Given the description of an element on the screen output the (x, y) to click on. 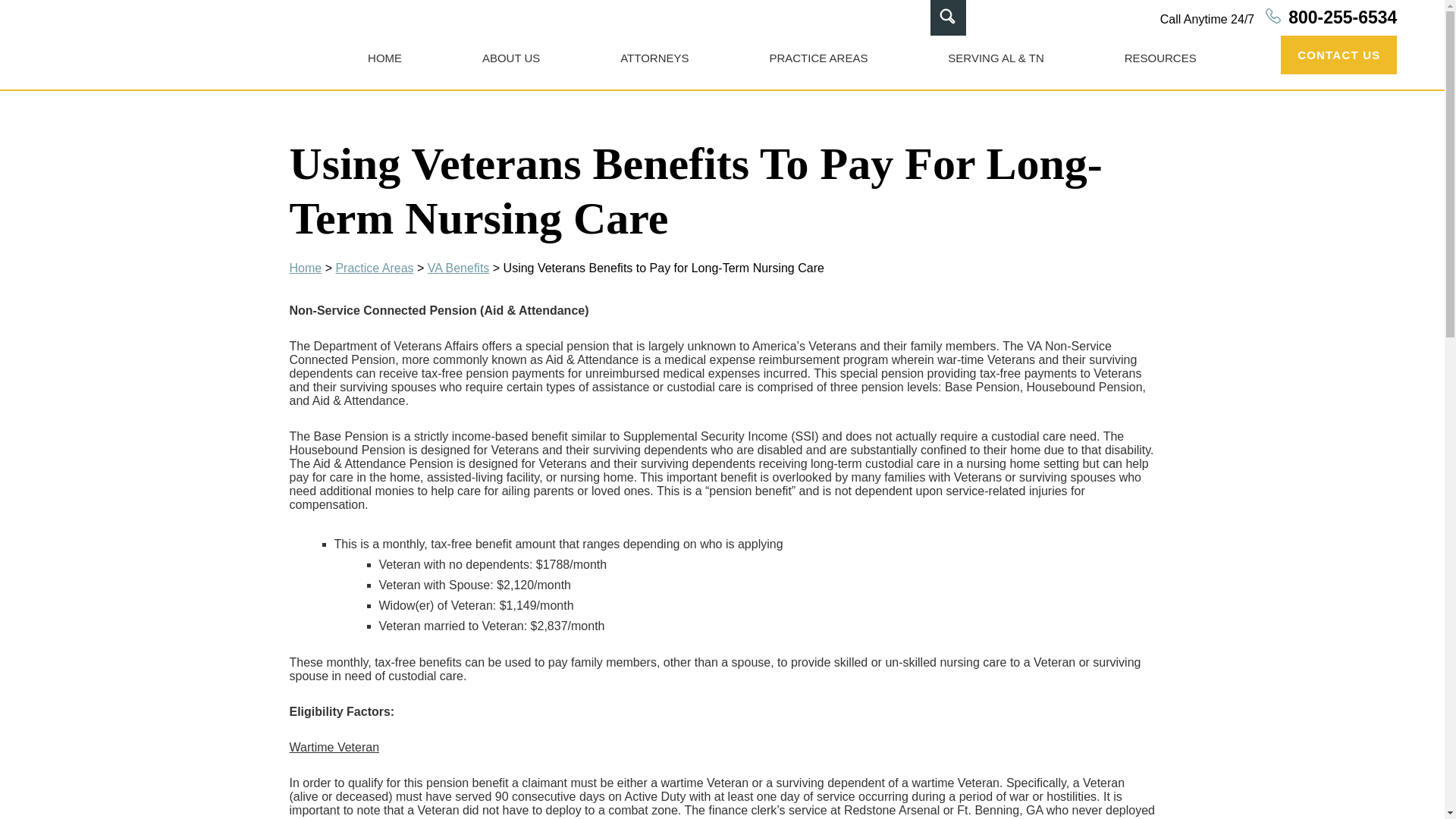
PRACTICE AREAS (817, 57)
HOME (384, 57)
ATTORNEYS (654, 57)
ABOUT US (510, 57)
Call to 800-255-6534 (1278, 17)
